Given the description of an element on the screen output the (x, y) to click on. 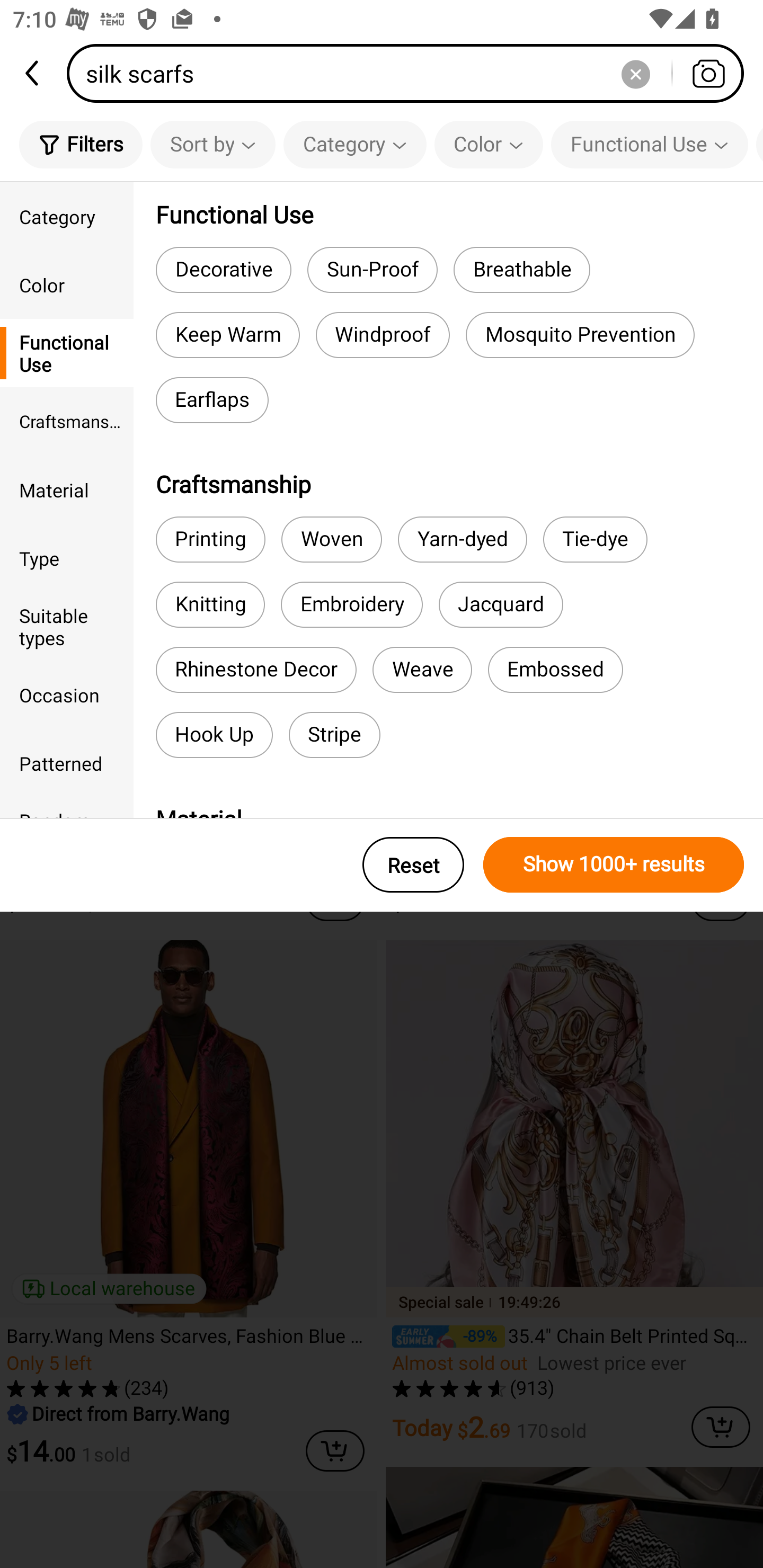
back (33, 72)
silk scarfs (411, 73)
Delete search history (635, 73)
Search by photo (708, 73)
Filters (80, 143)
Sort by (212, 143)
Category (354, 143)
Color (488, 143)
Functional Use (649, 143)
Category (66, 215)
Decorative (223, 269)
Sun-Proof (372, 269)
Breathable (521, 269)
Color (66, 284)
Keep Warm (227, 334)
Windproof (382, 334)
Mosquito Prevention (579, 334)
Functional Use (66, 352)
Earflaps (211, 400)
Craftsmanship (66, 421)
Material (66, 489)
Printing (210, 538)
Woven (331, 538)
Yarn-dyed (462, 538)
Tie-dye (595, 538)
Type (66, 557)
Knitting (209, 604)
Embroidery (351, 604)
Jacquard (500, 604)
Suitable types (66, 626)
Rhinestone Decor (255, 669)
Weave (422, 669)
Embossed (555, 669)
Occasion (66, 694)
Hook Up (214, 734)
Stripe (334, 734)
Patterned (66, 762)
Reset (412, 864)
Show 1000+ results (612, 864)
